Given the description of an element on the screen output the (x, y) to click on. 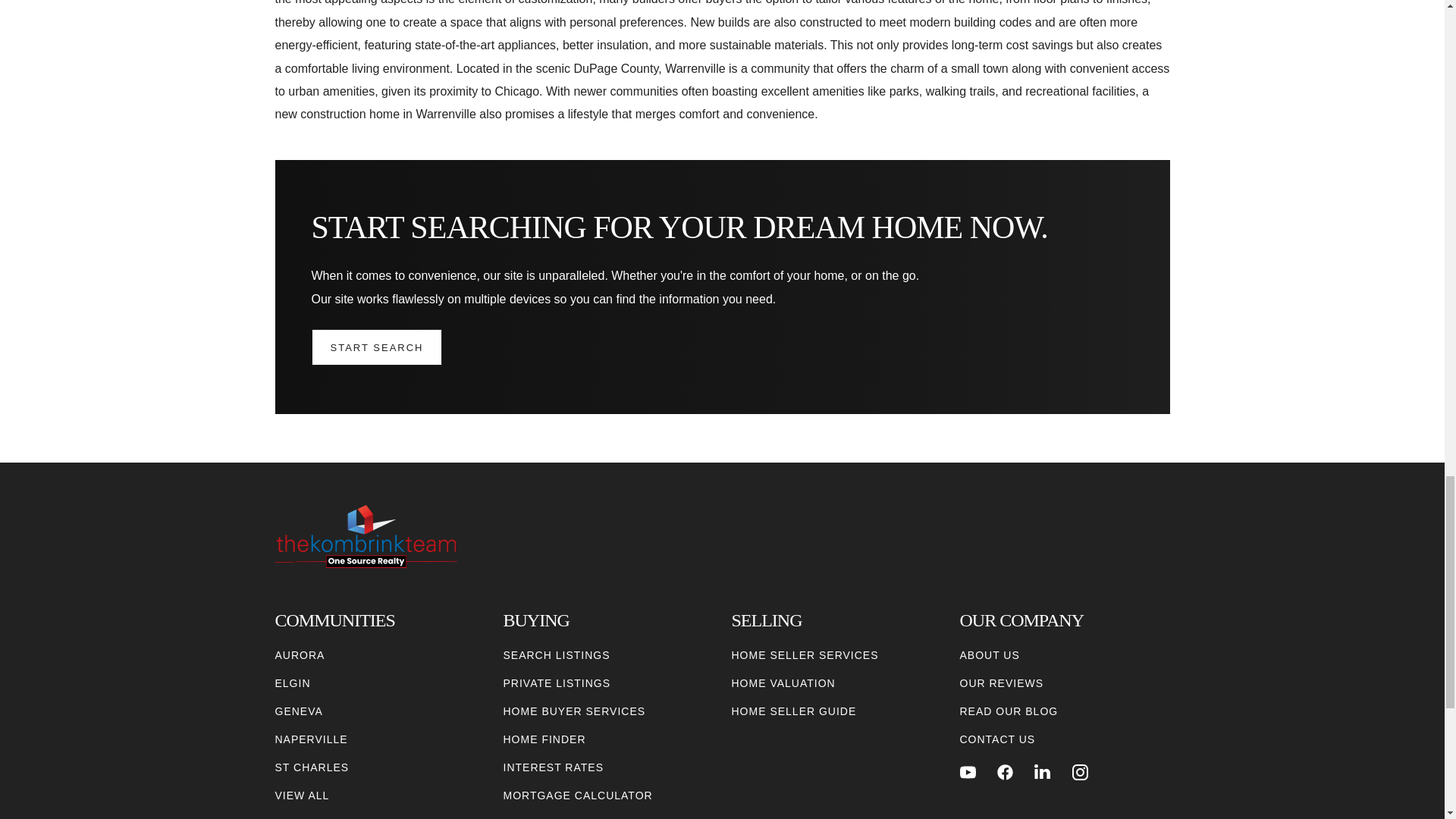
LINKEDIN (1041, 772)
FACEBOOK (1005, 772)
YOUTUBE (967, 772)
